Given the description of an element on the screen output the (x, y) to click on. 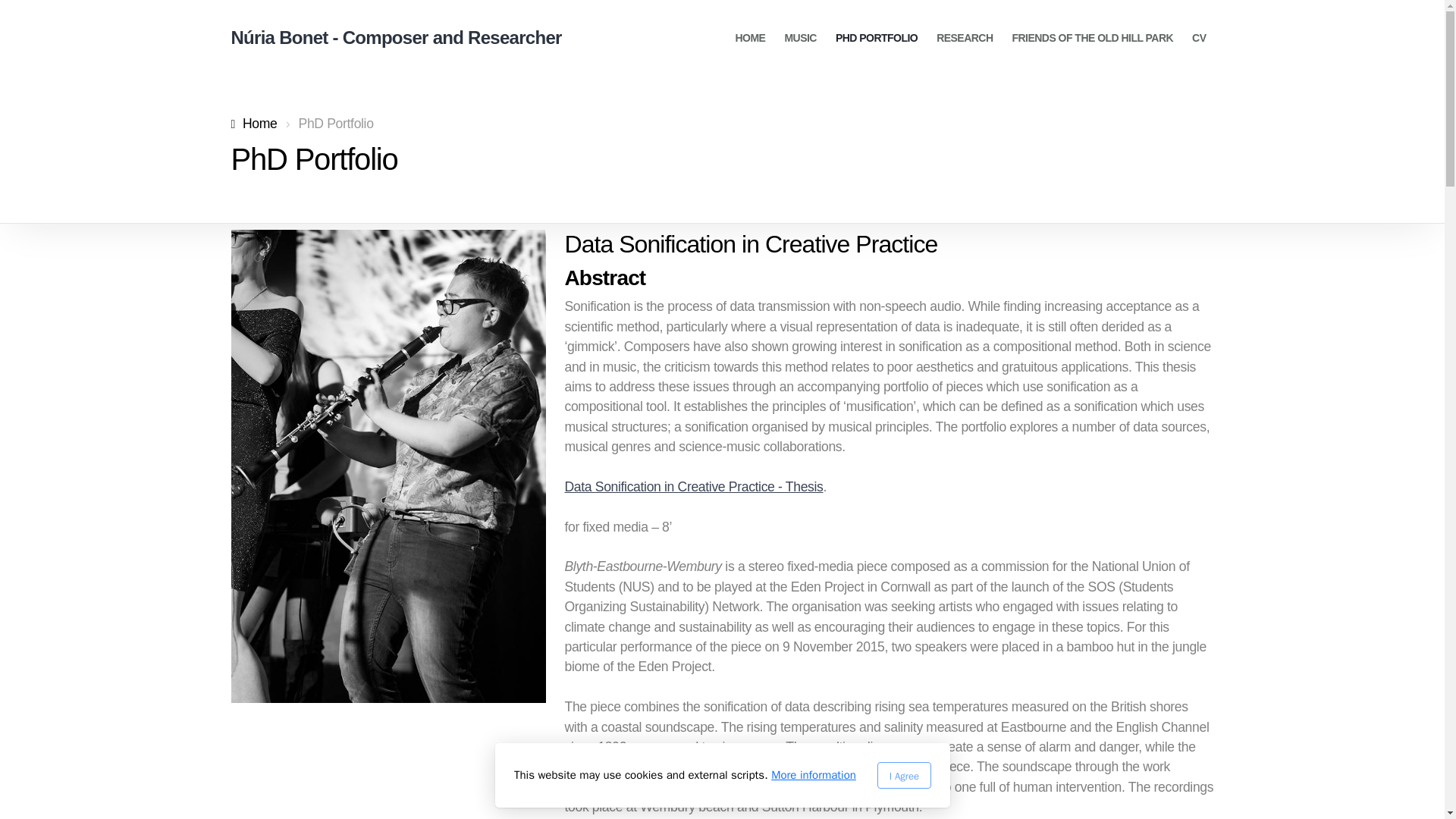
I Agree (903, 775)
HOME (750, 37)
FRIENDS OF THE OLD HILL PARK (1092, 37)
RESEARCH (964, 37)
PHD PORTFOLIO (876, 37)
Data Sonification in Creative Practice - Thesis (693, 486)
Home (253, 123)
CV (1198, 37)
More information (813, 775)
MUSIC (800, 37)
